Given the description of an element on the screen output the (x, y) to click on. 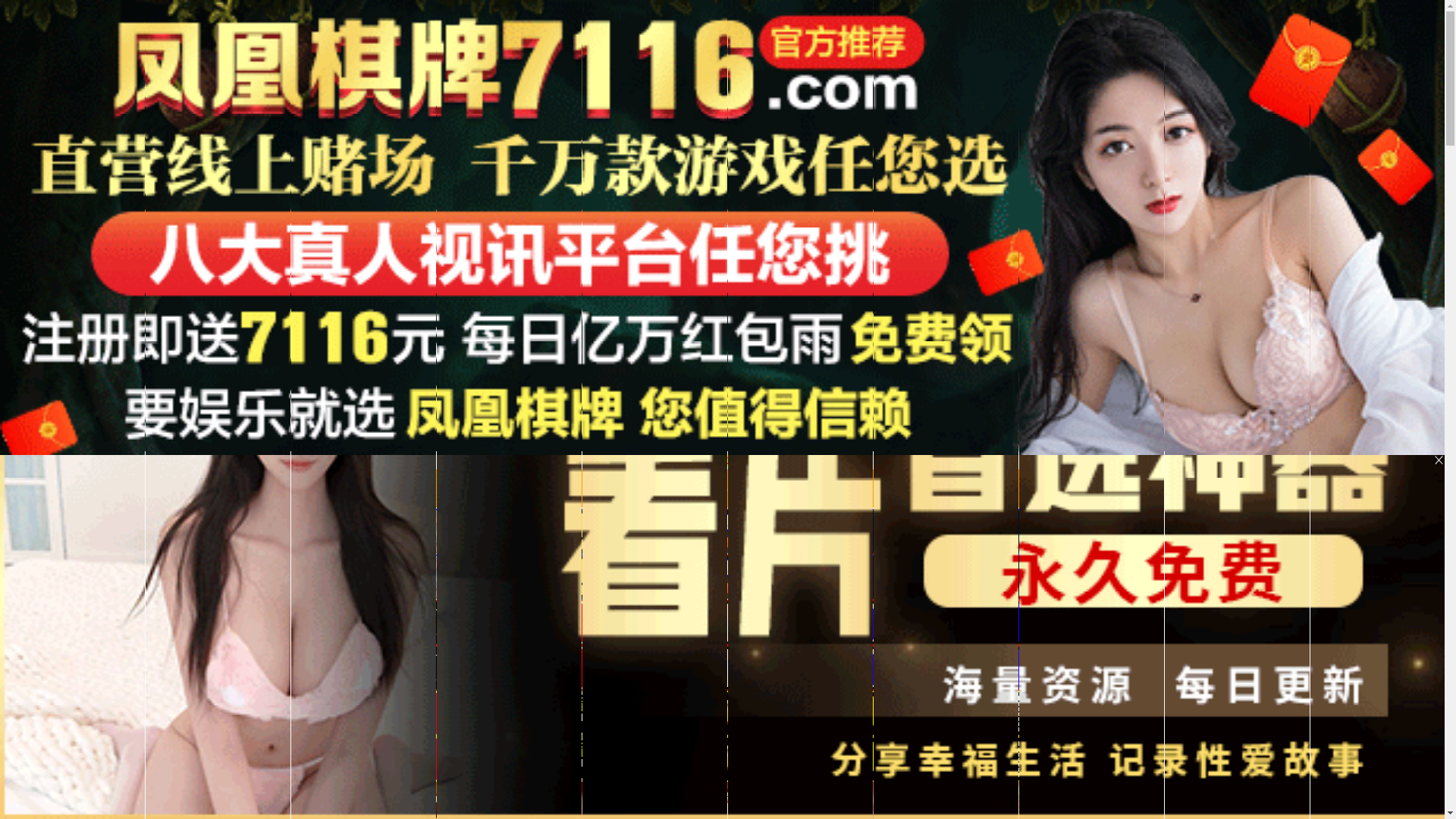
07pa.com Element type: text (721, 491)
